Given the description of an element on the screen output the (x, y) to click on. 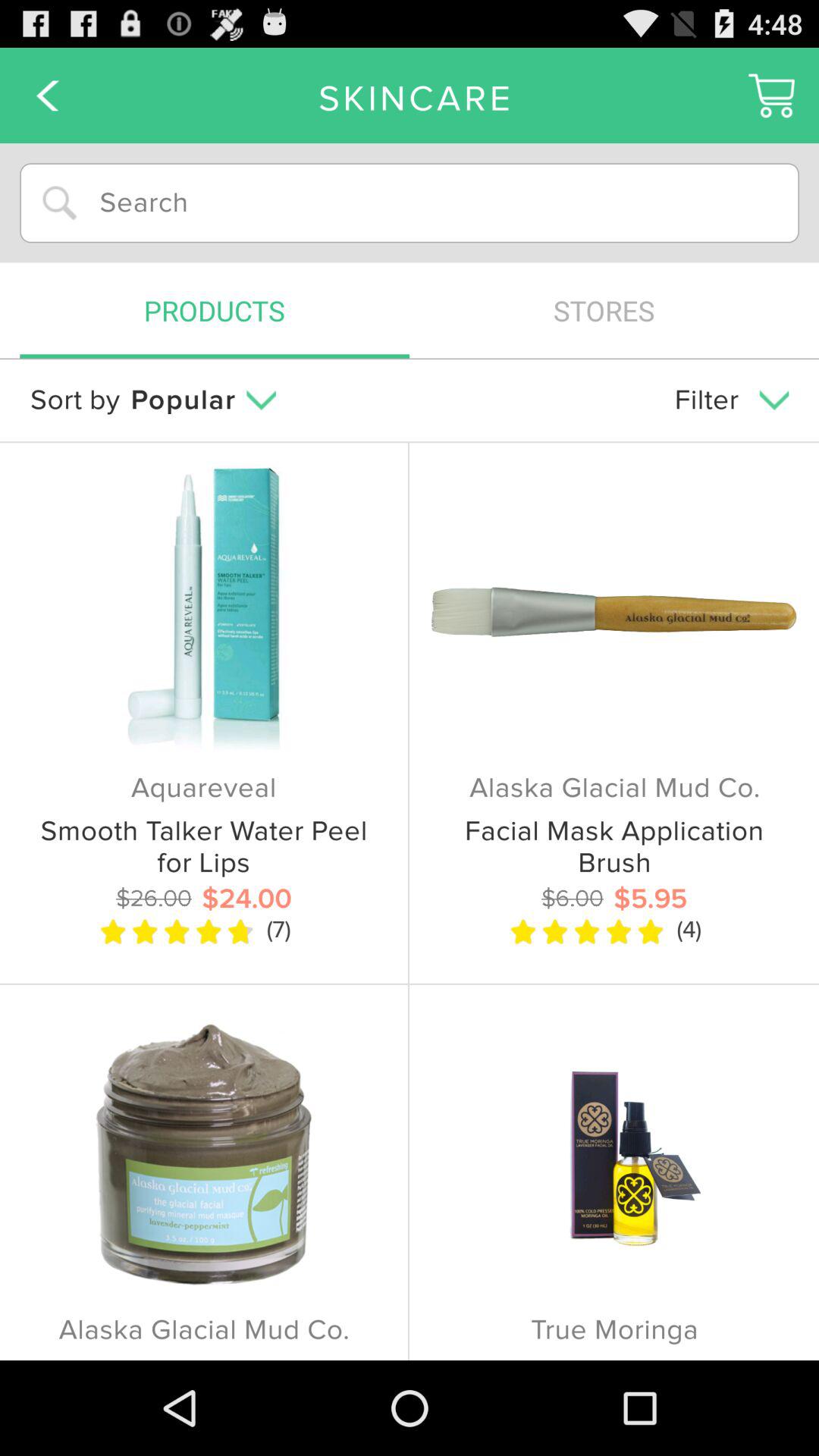
input search term (409, 202)
